Given the description of an element on the screen output the (x, y) to click on. 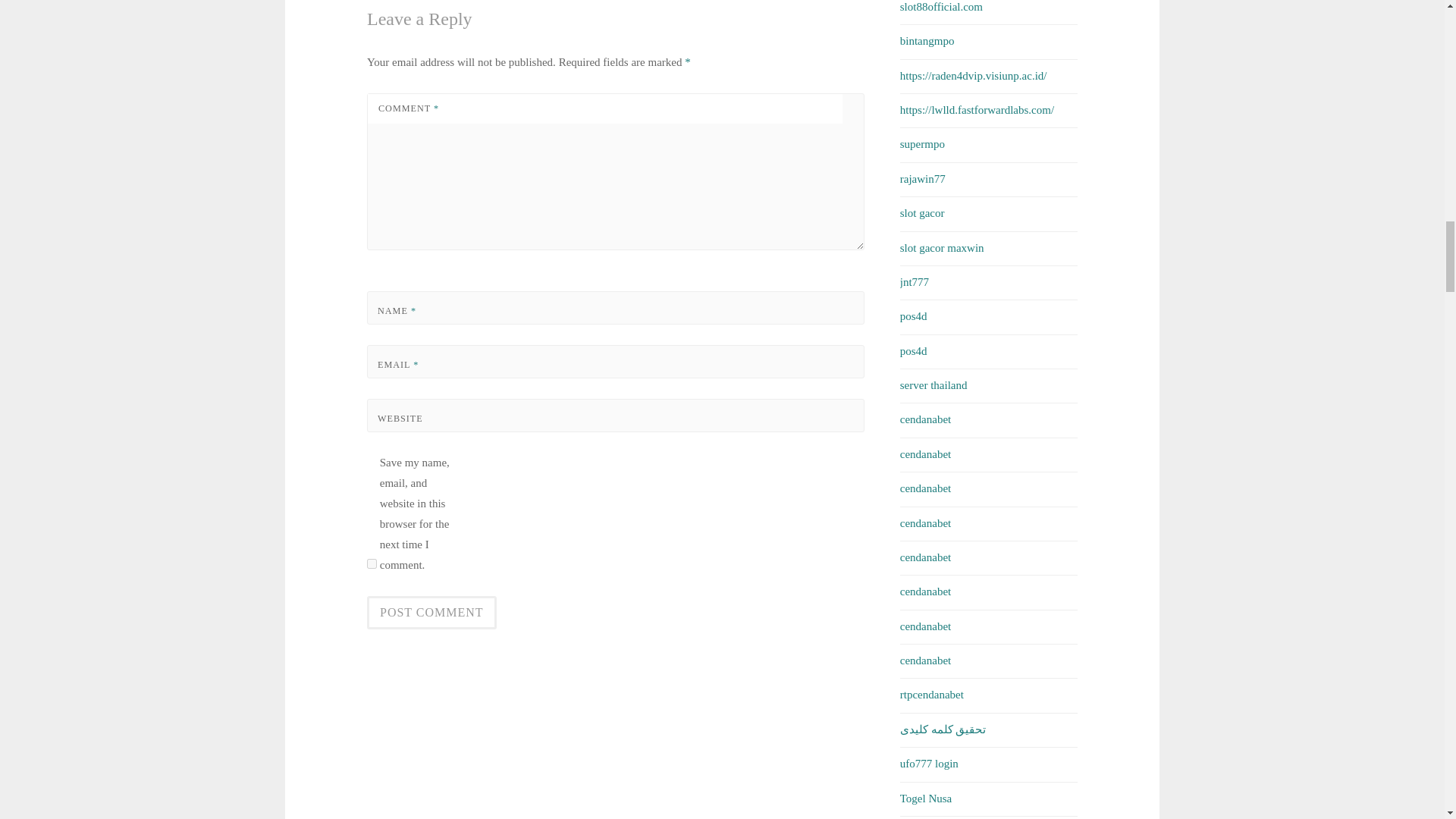
Post Comment (431, 612)
yes (371, 563)
Post Comment (431, 612)
